Given the description of an element on the screen output the (x, y) to click on. 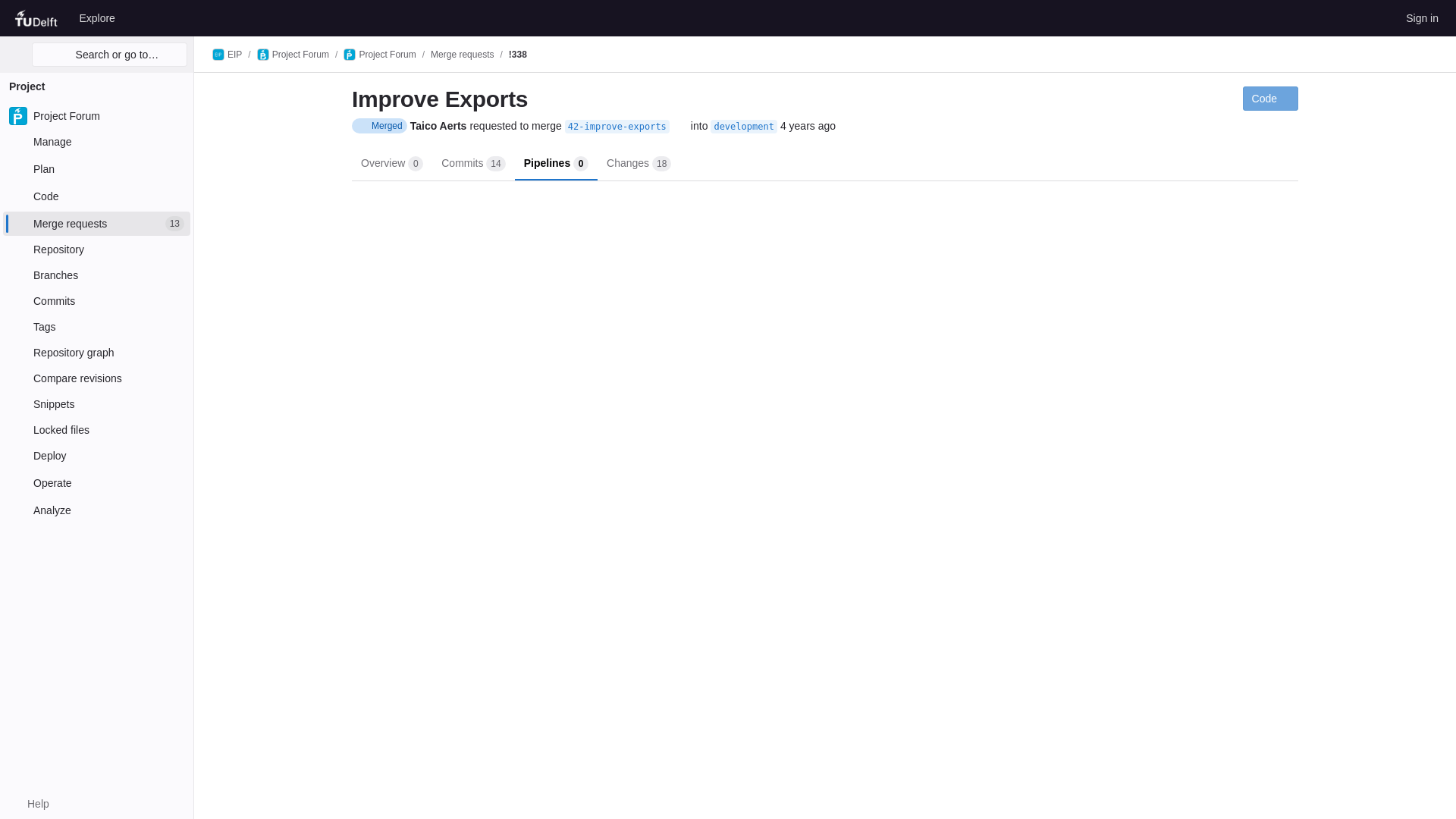
Manage (96, 223)
Project Forum (96, 141)
Homepage (96, 115)
42-improve-exports (37, 17)
Plan (616, 126)
Code (96, 168)
Explore (96, 196)
Sign in (96, 17)
development (1421, 17)
